Given the description of an element on the screen output the (x, y) to click on. 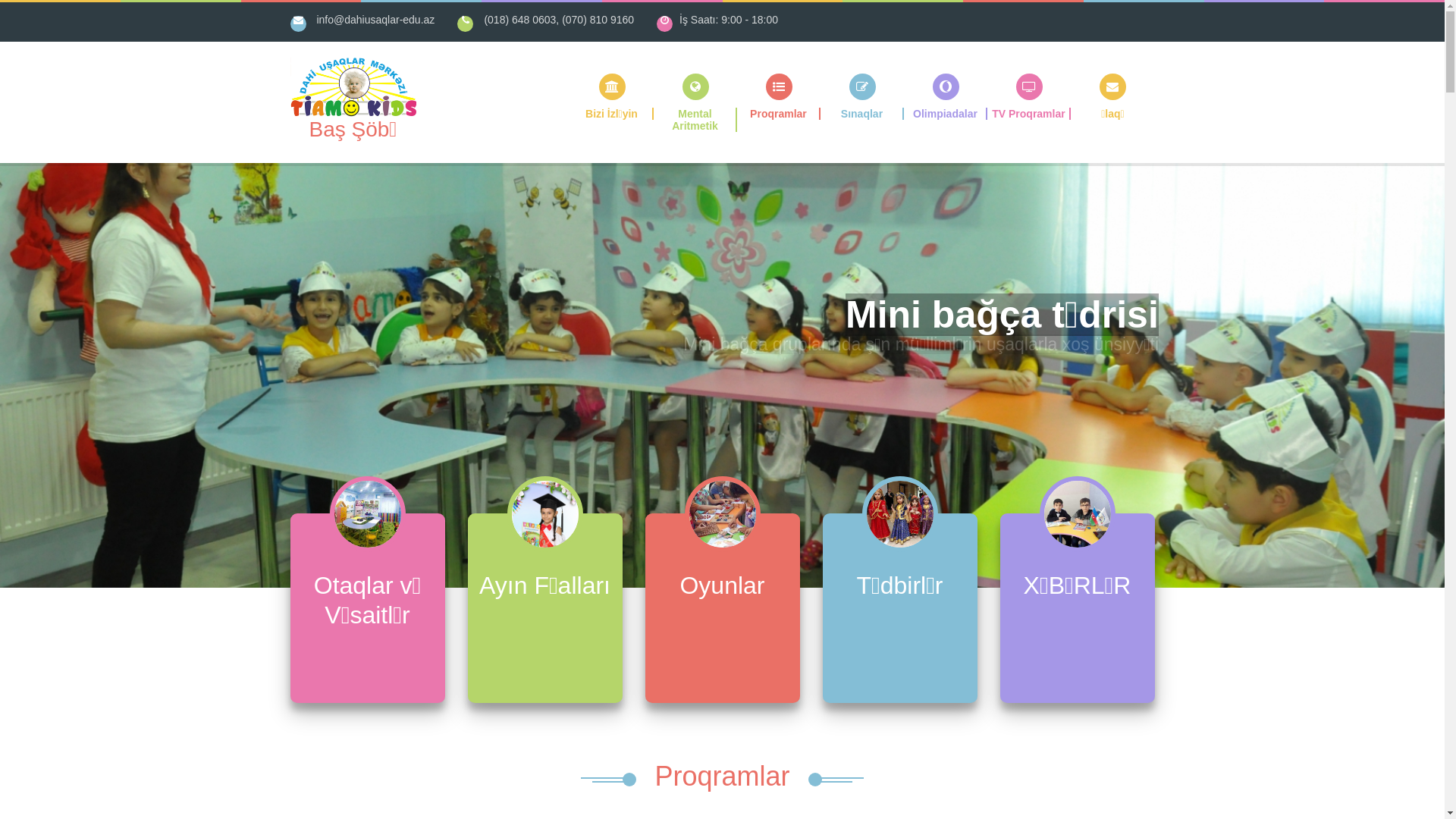
Olimpiadalar Element type: text (945, 96)
Oyunlar Element type: text (721, 549)
Proqramlar Element type: text (778, 96)
info@dahiusaqlar-edu.az Element type: text (375, 19)
(018) 648 0603, (070) 810 9160 Element type: text (558, 19)
Mental Aritmetik Element type: text (695, 102)
TV Proqramlar Element type: text (1028, 96)
